Given the description of an element on the screen output the (x, y) to click on. 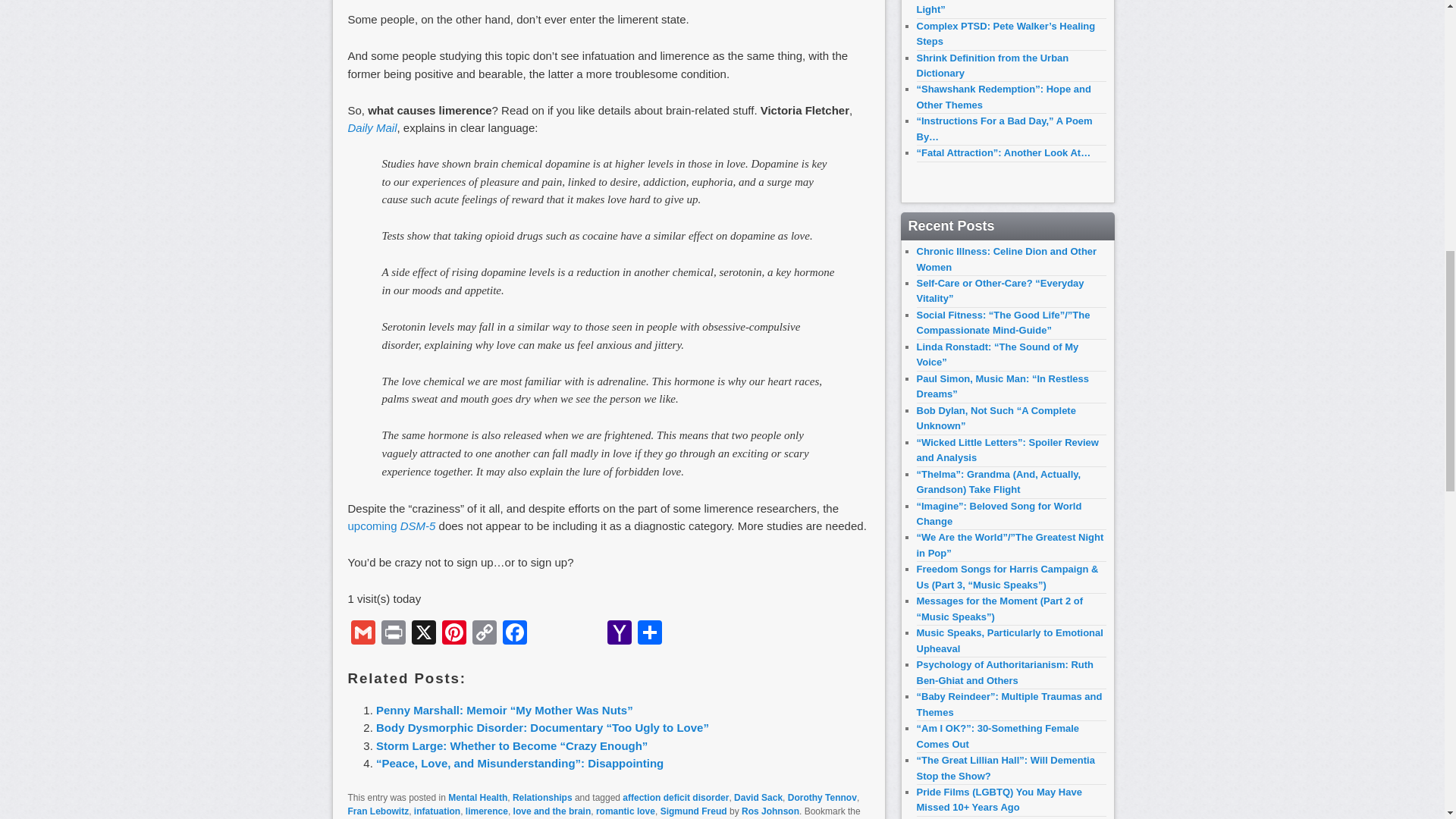
upcoming DSM-5 (391, 525)
Limerence (371, 127)
X (422, 633)
Relationships (542, 797)
Mental Health (477, 797)
Pinterest (453, 633)
Daily Mail (371, 127)
Print (392, 633)
Copy Link (483, 633)
Yahoo Mail (618, 633)
